Given the description of an element on the screen output the (x, y) to click on. 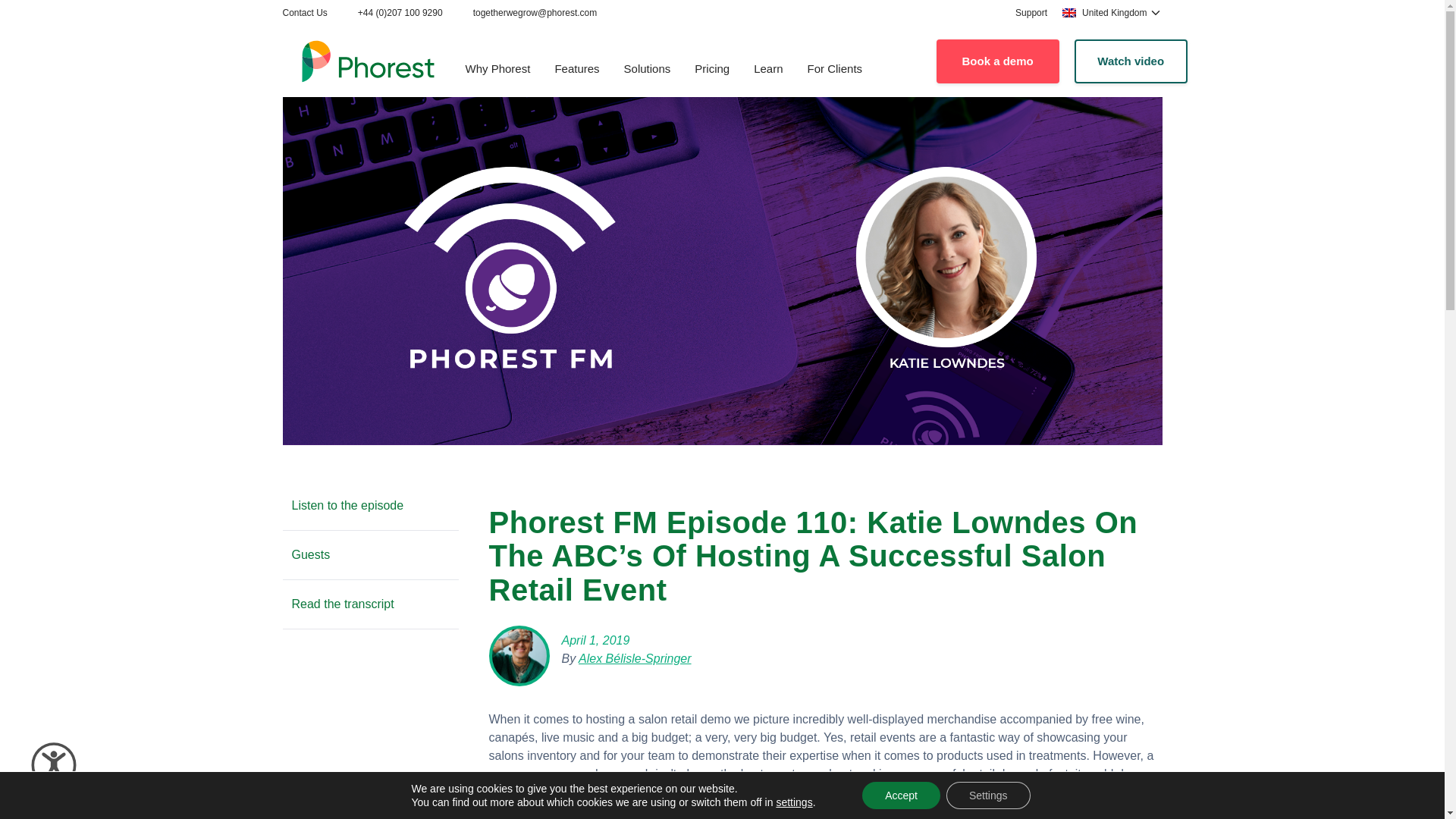
Features (576, 69)
Support (1030, 12)
Why Phorest (497, 69)
Contact Us (304, 12)
